Given the description of an element on the screen output the (x, y) to click on. 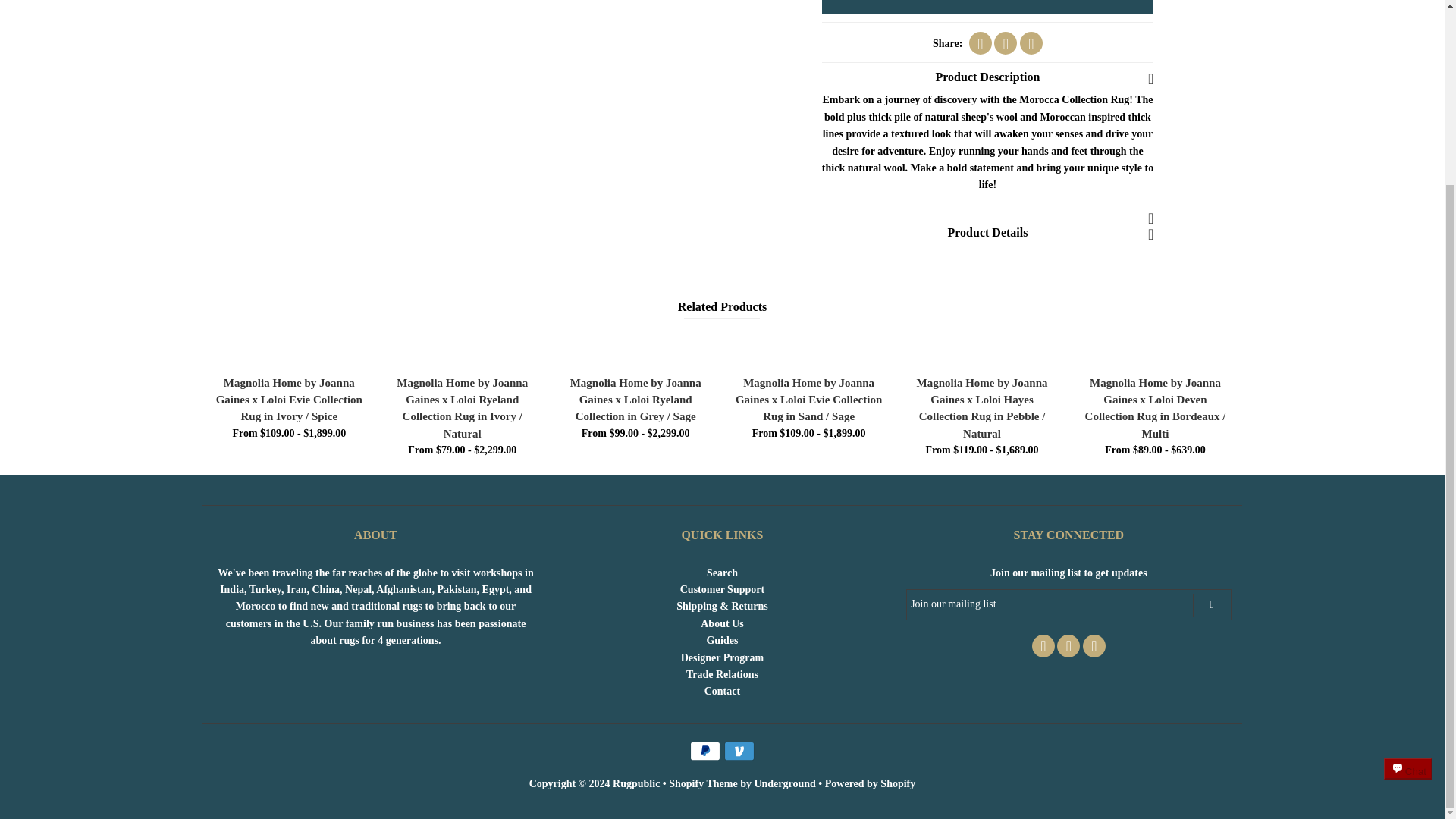
Share on Pinterest (1031, 42)
  Sold Out  (988, 7)
PayPal (705, 751)
Share on Facebook (980, 42)
Share on Twitter (1005, 42)
Venmo (738, 751)
